Given the description of an element on the screen output the (x, y) to click on. 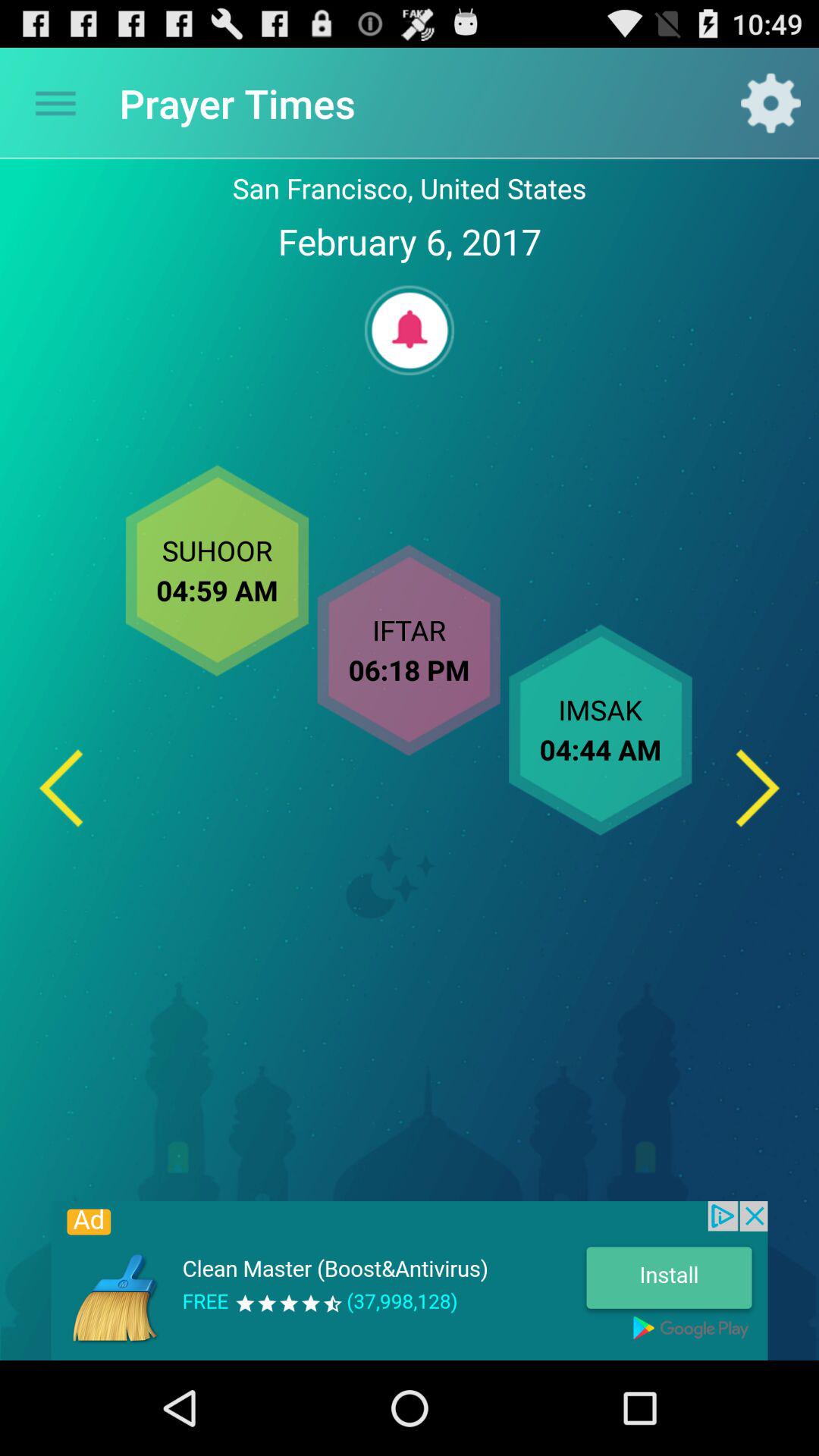
set alarm (409, 330)
